Given the description of an element on the screen output the (x, y) to click on. 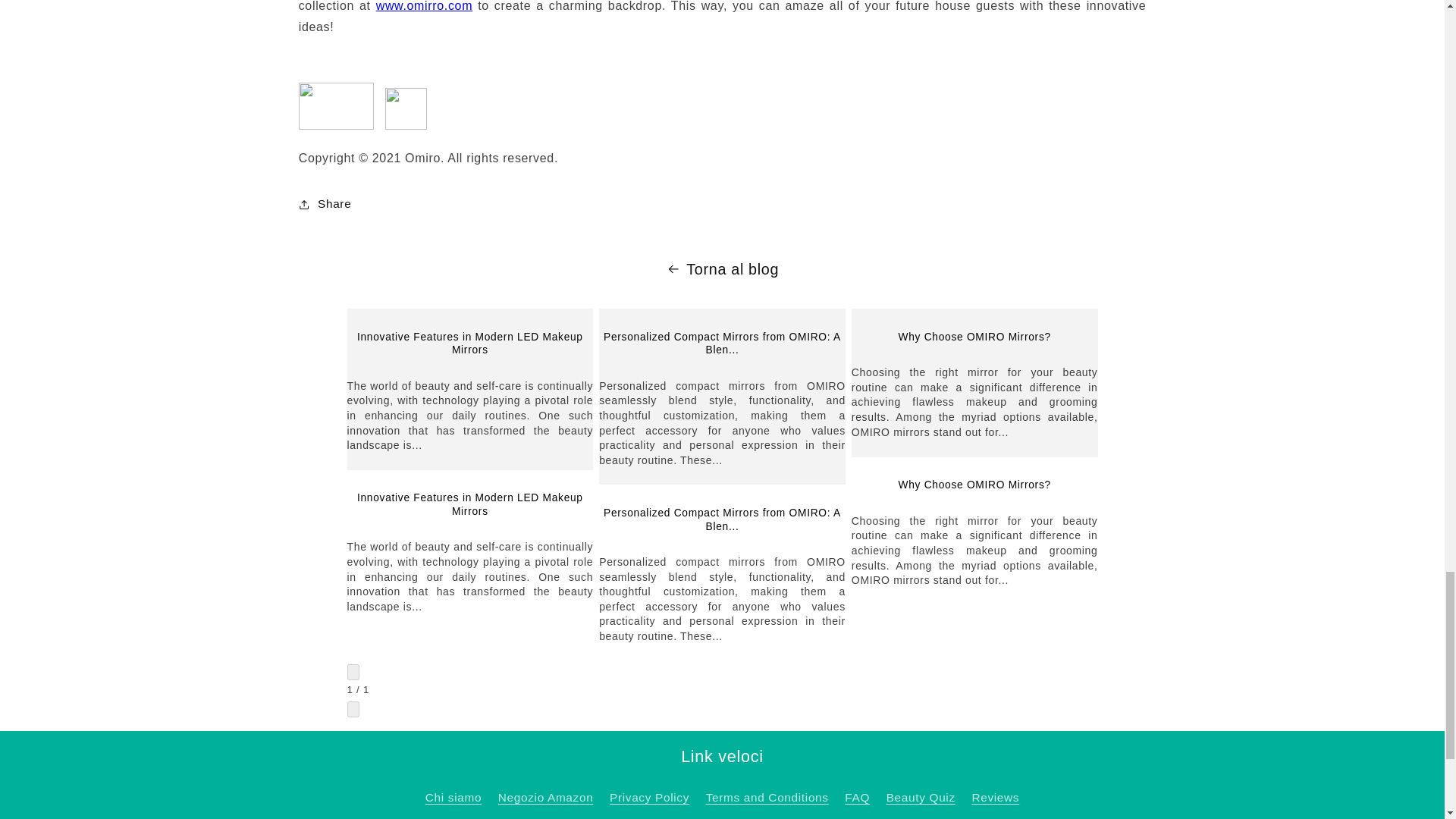
Omiro Instagram Page (405, 124)
Omiro Facebook Page (336, 124)
www.omirro.com (423, 6)
